Given the description of an element on the screen output the (x, y) to click on. 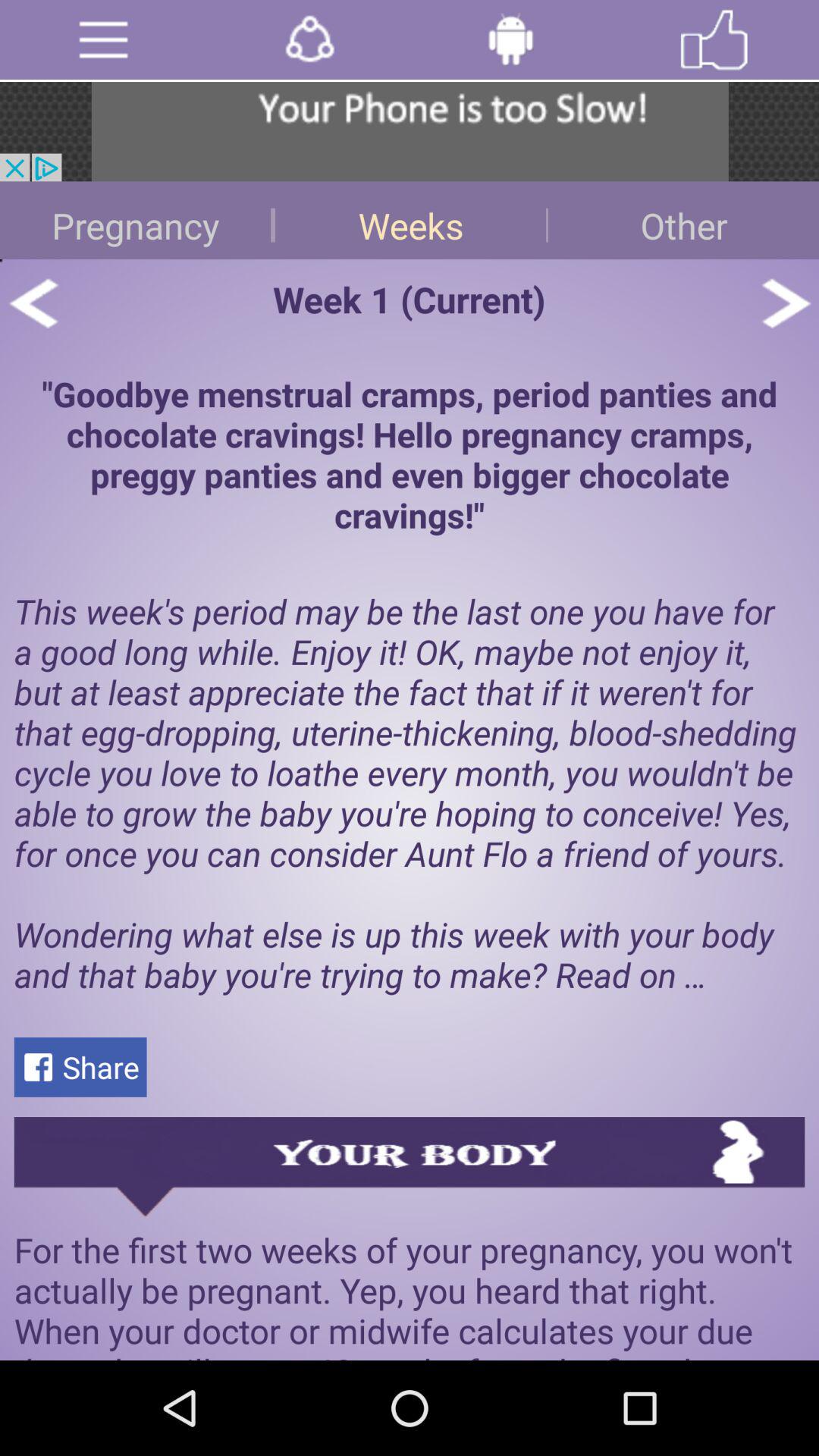
like the application (714, 39)
